Given the description of an element on the screen output the (x, y) to click on. 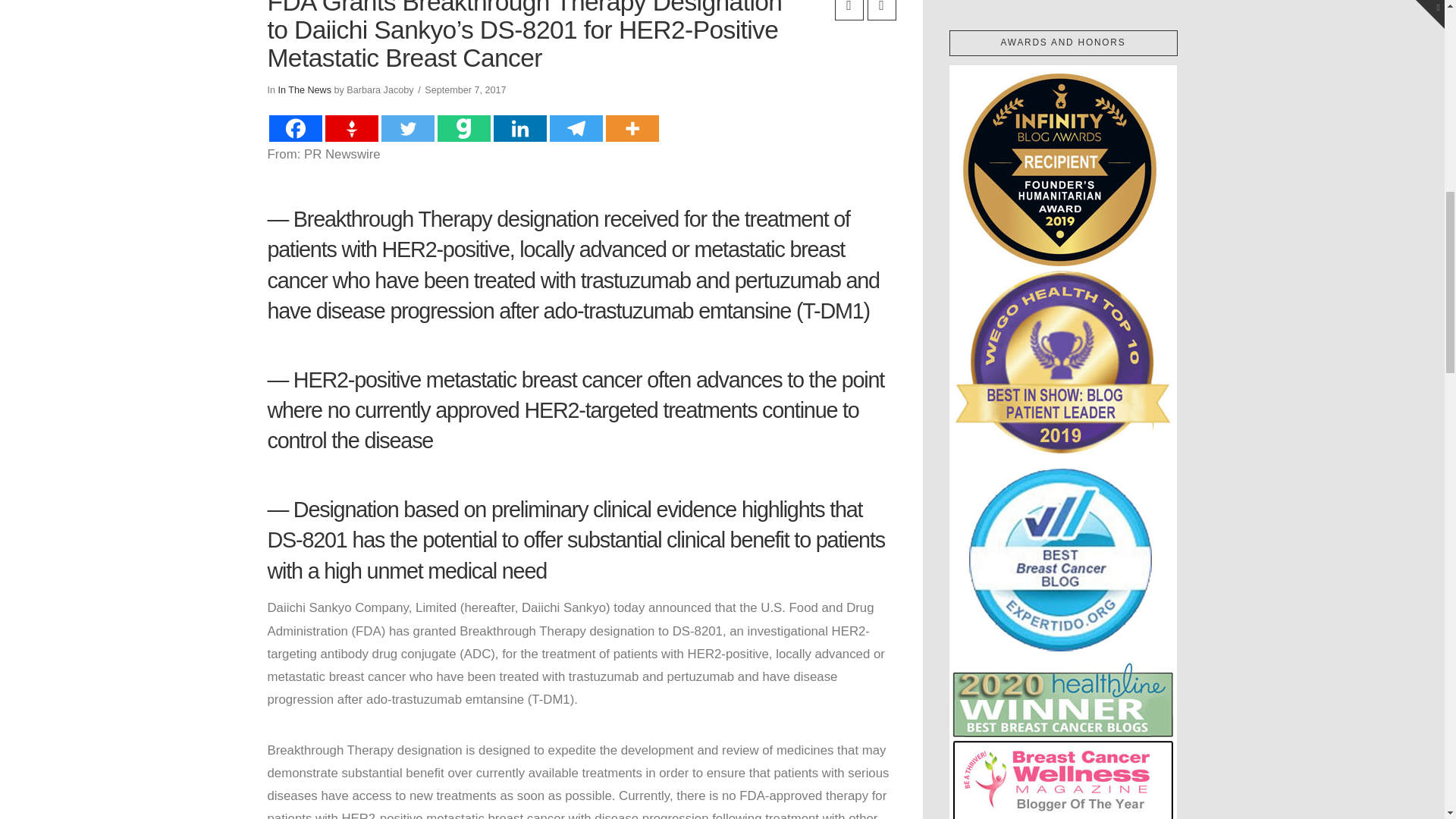
Gab (462, 128)
Facebook (294, 128)
Gettr (350, 128)
Linkedin (519, 128)
Telegram (575, 128)
More (631, 128)
Twitter (406, 128)
